Given the description of an element on the screen output the (x, y) to click on. 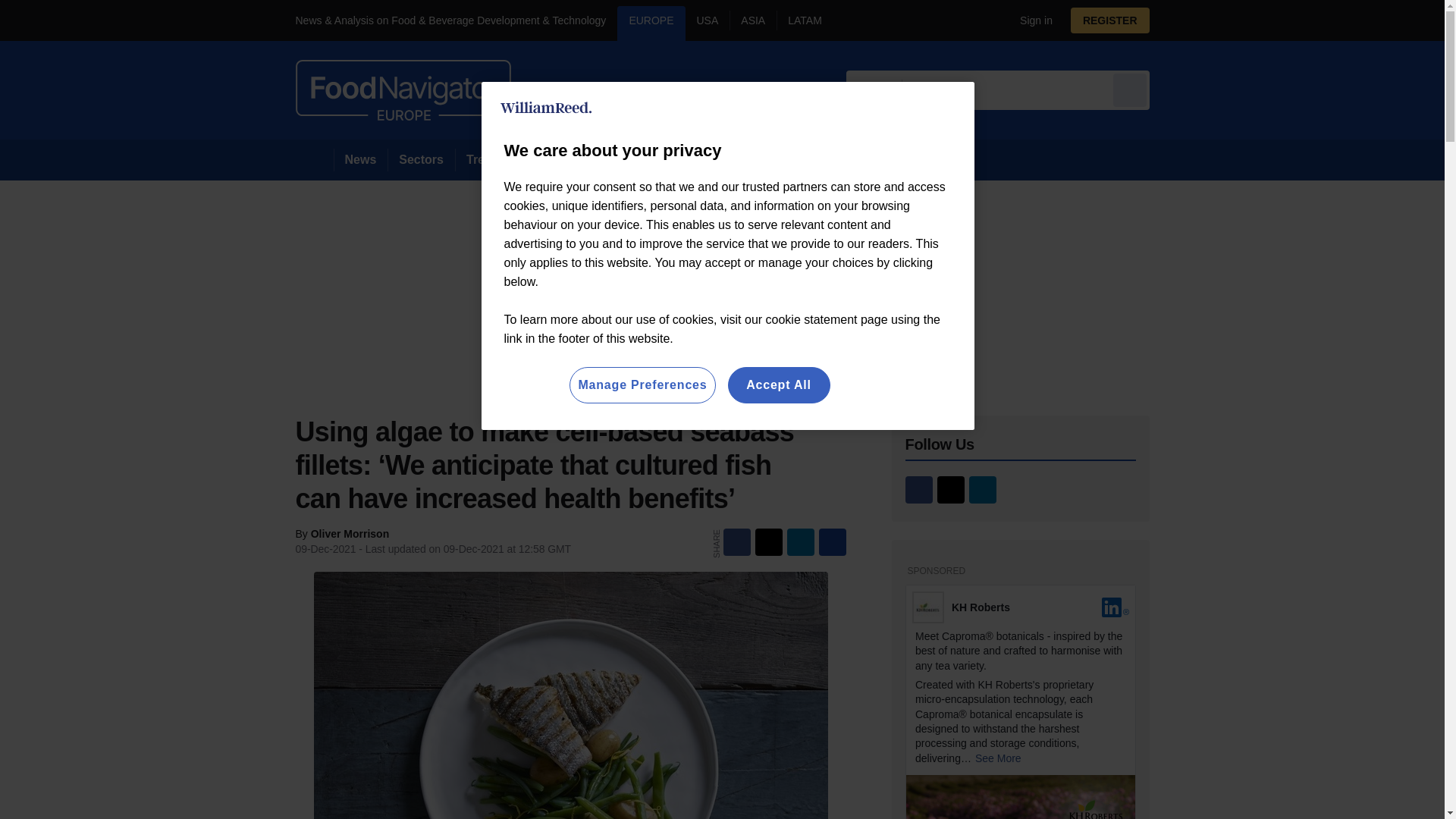
USA (707, 22)
Home (313, 159)
William Reed (545, 107)
Sign out (1032, 20)
My account (1114, 20)
FoodNavigator Europe (403, 89)
REGISTER (1110, 20)
EUROPE (650, 22)
ASIA (752, 22)
News (360, 159)
Sign in (1029, 20)
Home (314, 159)
Send (1129, 89)
Sectors (420, 159)
